Given the description of an element on the screen output the (x, y) to click on. 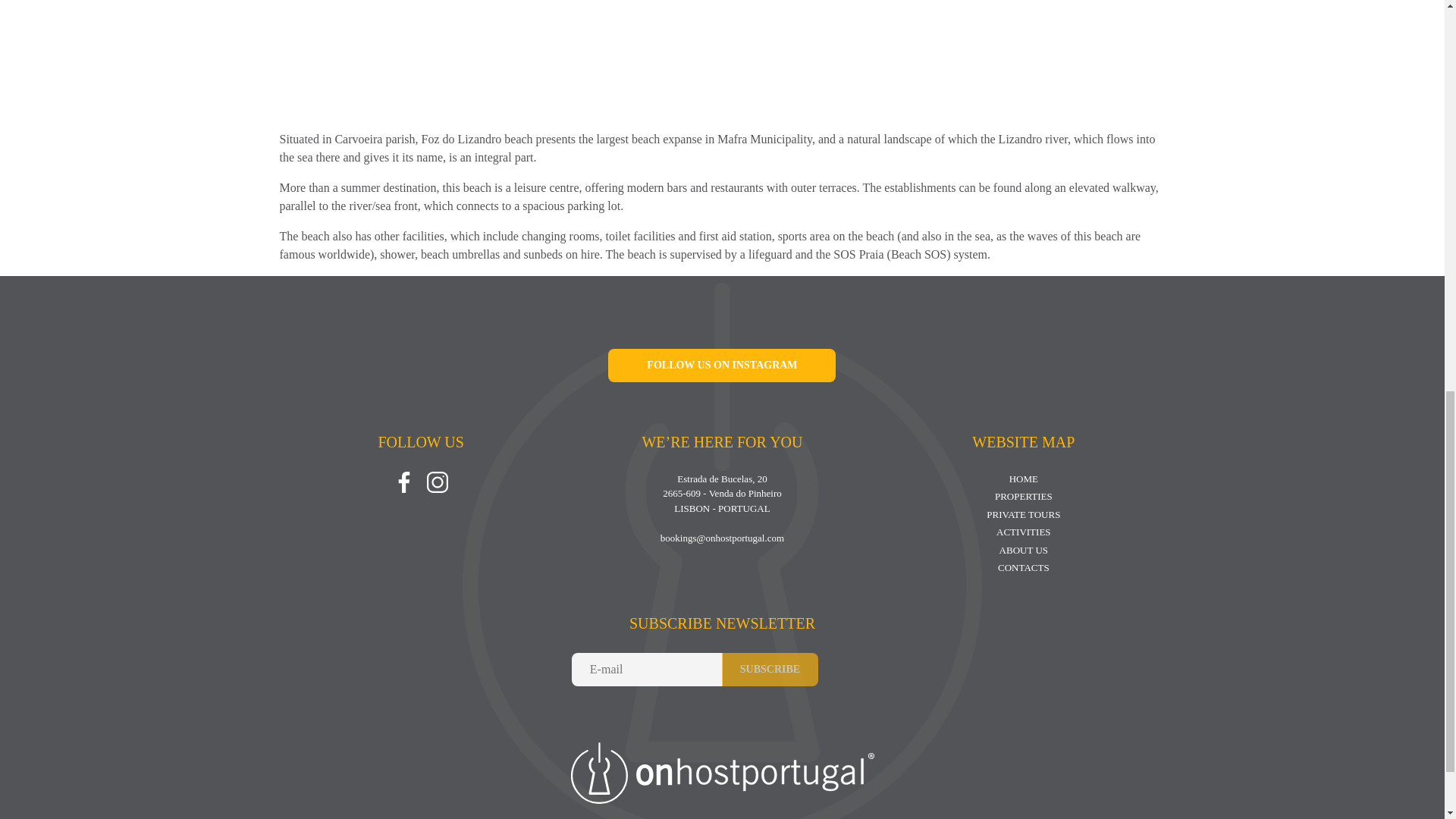
PROPERTIES (1023, 496)
FOLLOW US ON INSTAGRAM (721, 365)
Subscribe (770, 669)
PRIVATE TOURS (1023, 514)
ACTIVITIES (1023, 531)
ABOUT US (1023, 550)
HOME (1023, 478)
CONTACTS (1023, 567)
Subscribe (770, 669)
